Given the description of an element on the screen output the (x, y) to click on. 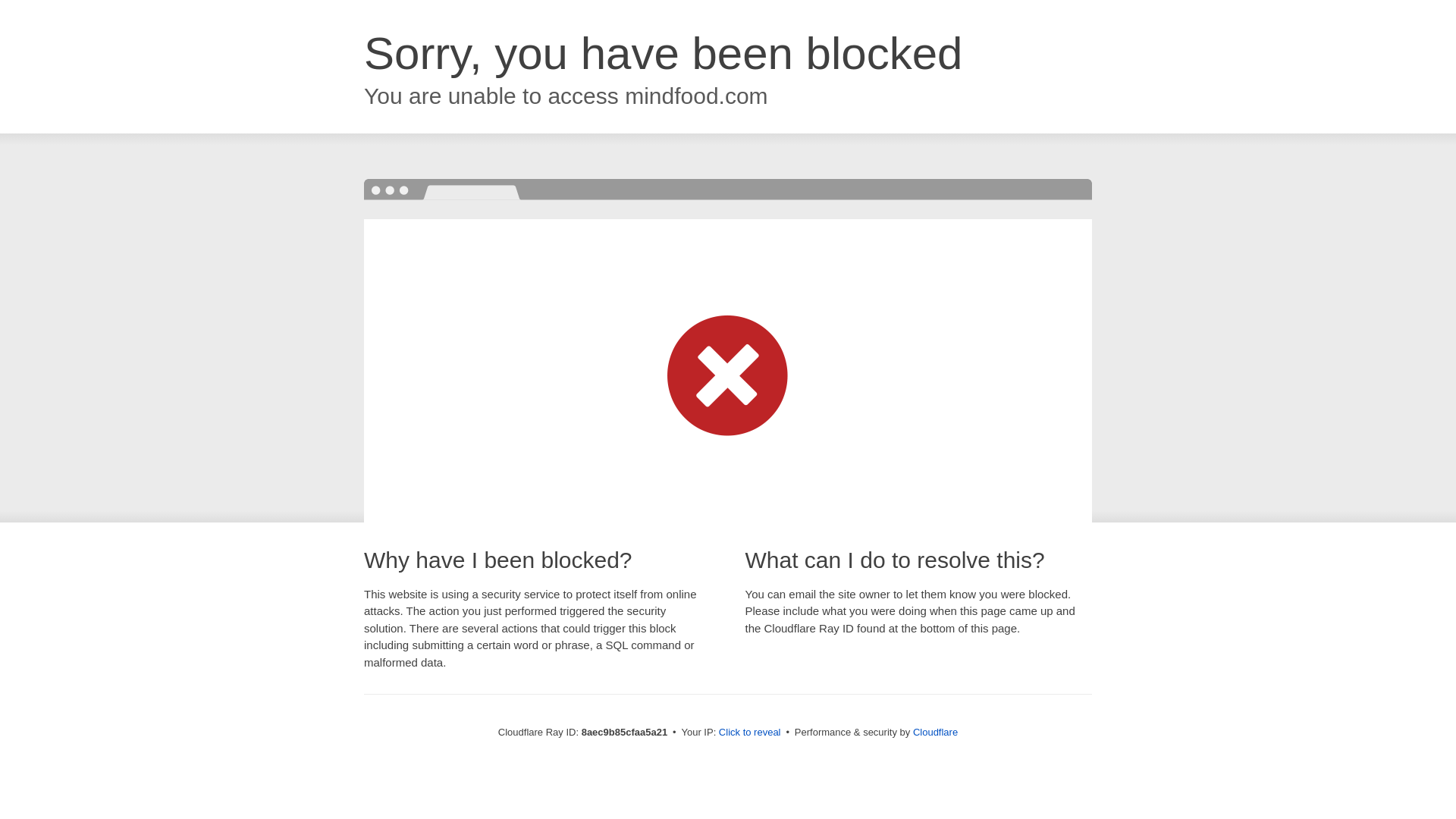
Click to reveal (749, 732)
Cloudflare (935, 731)
